Given the description of an element on the screen output the (x, y) to click on. 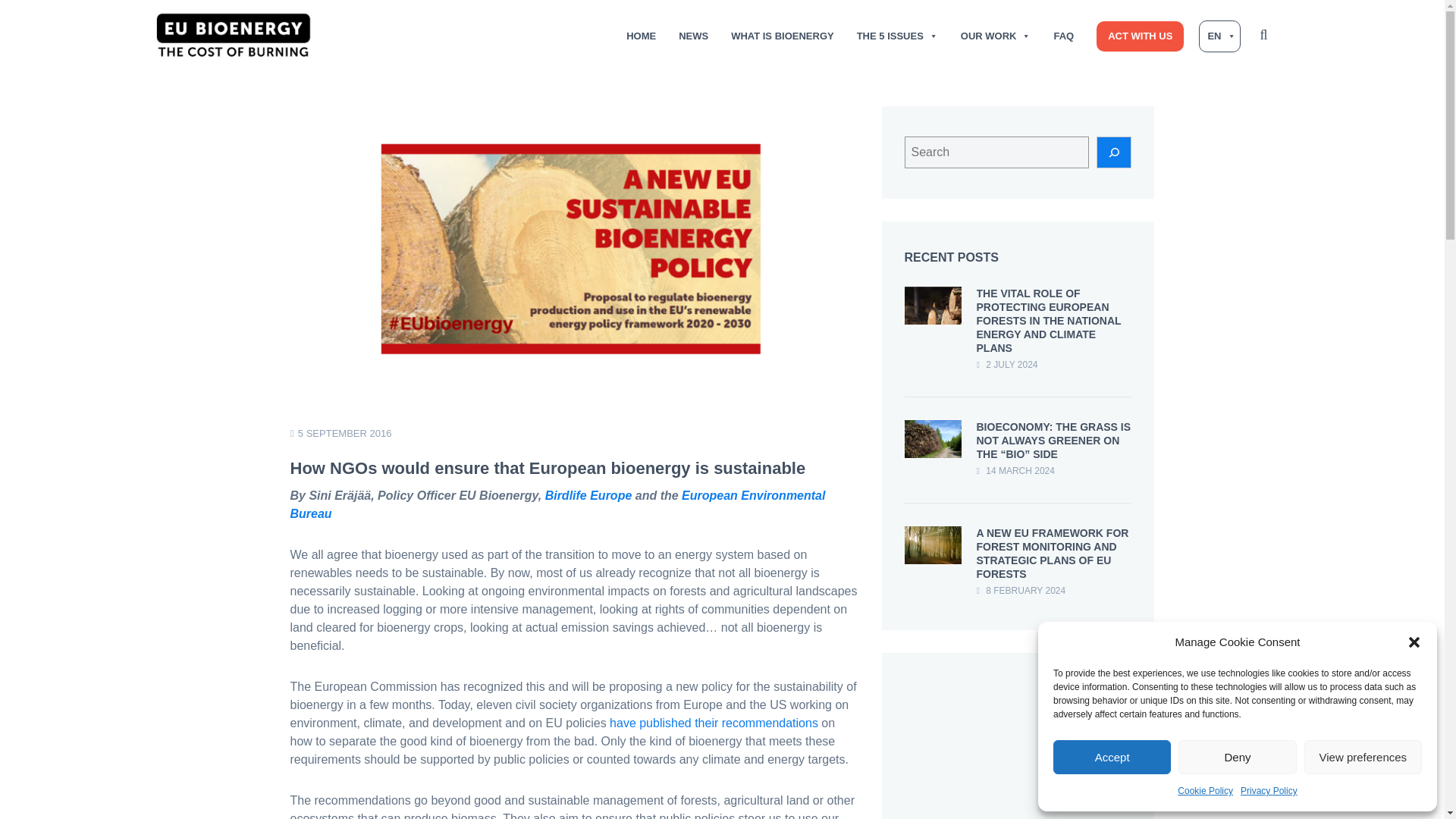
FAQ (1063, 36)
Cookie Policy (1205, 791)
Birdlife Europe (587, 495)
View preferences (1363, 756)
EU Bioenergy (233, 34)
THE 5 ISSUES (897, 36)
Deny (1236, 756)
WHAT IS BIOENERGY (782, 36)
EN (1219, 36)
Accept (1111, 756)
HOME (640, 36)
ACT WITH US (1139, 36)
EN (1219, 36)
have published their recommendations (714, 722)
European Environmental Bureau (557, 504)
